Given the description of an element on the screen output the (x, y) to click on. 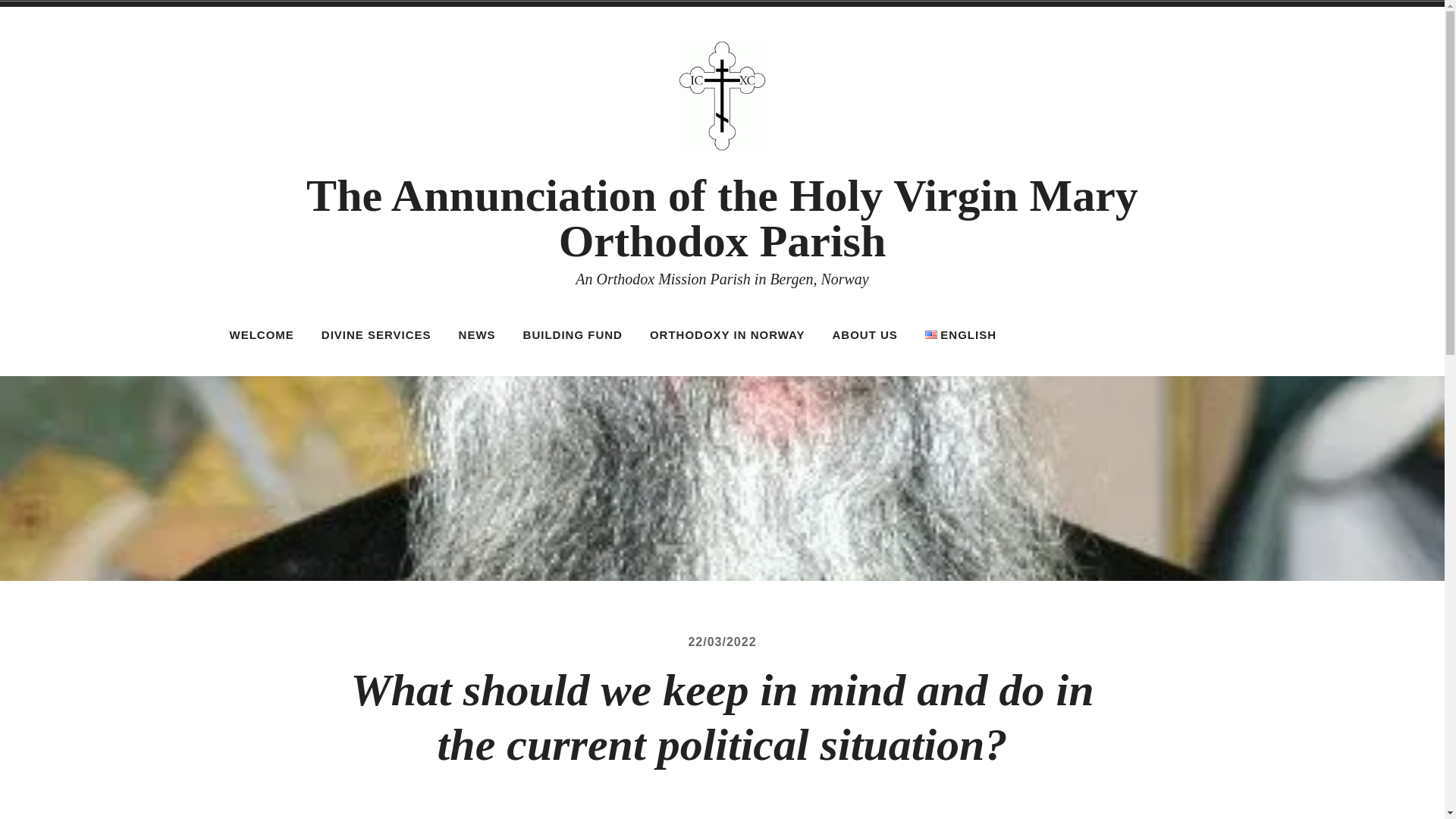
ENGLISH (968, 334)
DIVINE SERVICES (376, 334)
WELCOME (261, 334)
The Annunciation of the Holy Virgin Mary Orthodox Parish (721, 218)
BUILDING FUND (572, 334)
ABOUT US (864, 334)
NEWS (476, 334)
ORTHODOXY IN NORWAY (727, 334)
